Given the description of an element on the screen output the (x, y) to click on. 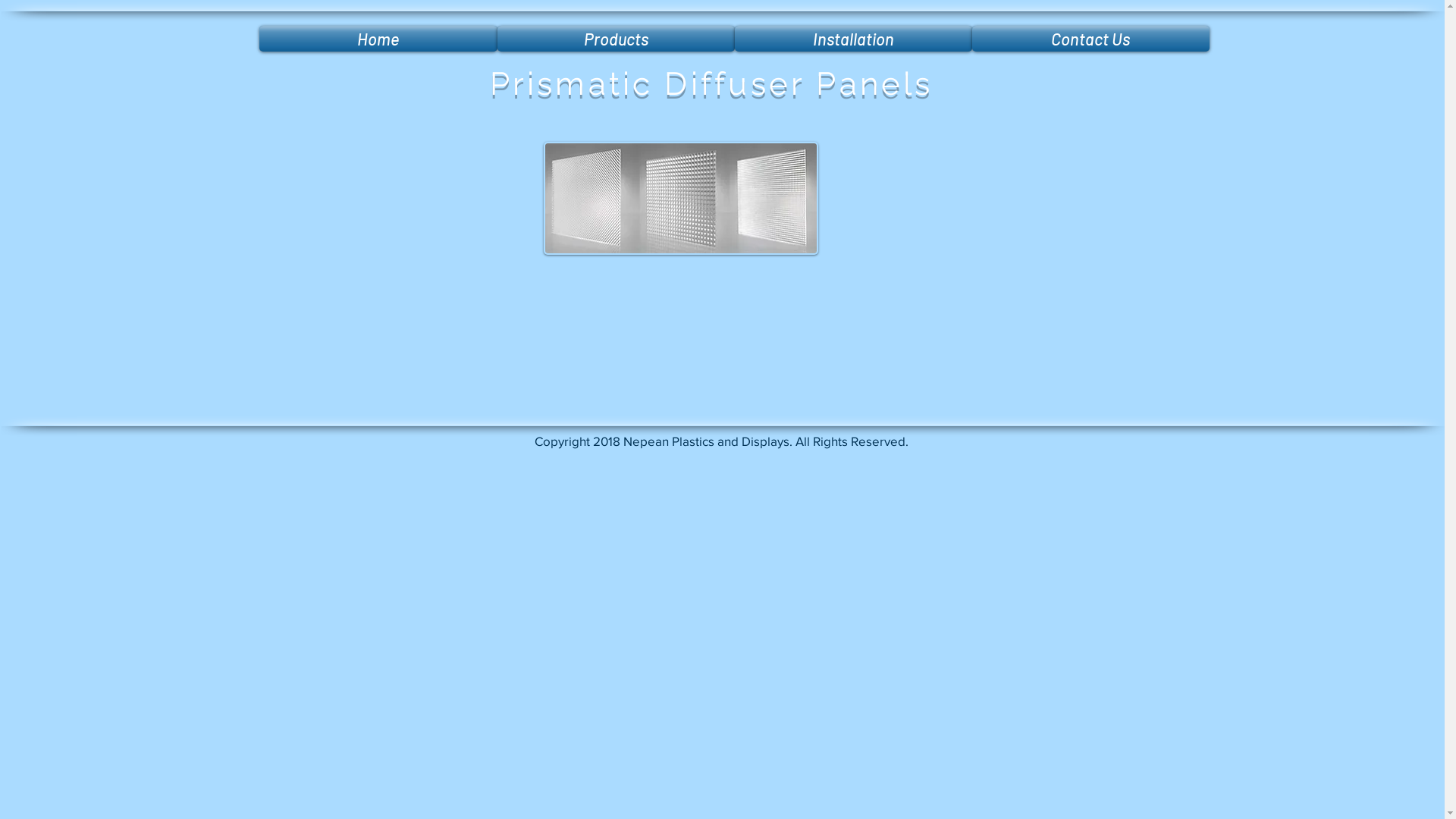
Home Element type: text (378, 38)
Contact Us Element type: text (1090, 38)
Installation Element type: text (852, 38)
